Given the description of an element on the screen output the (x, y) to click on. 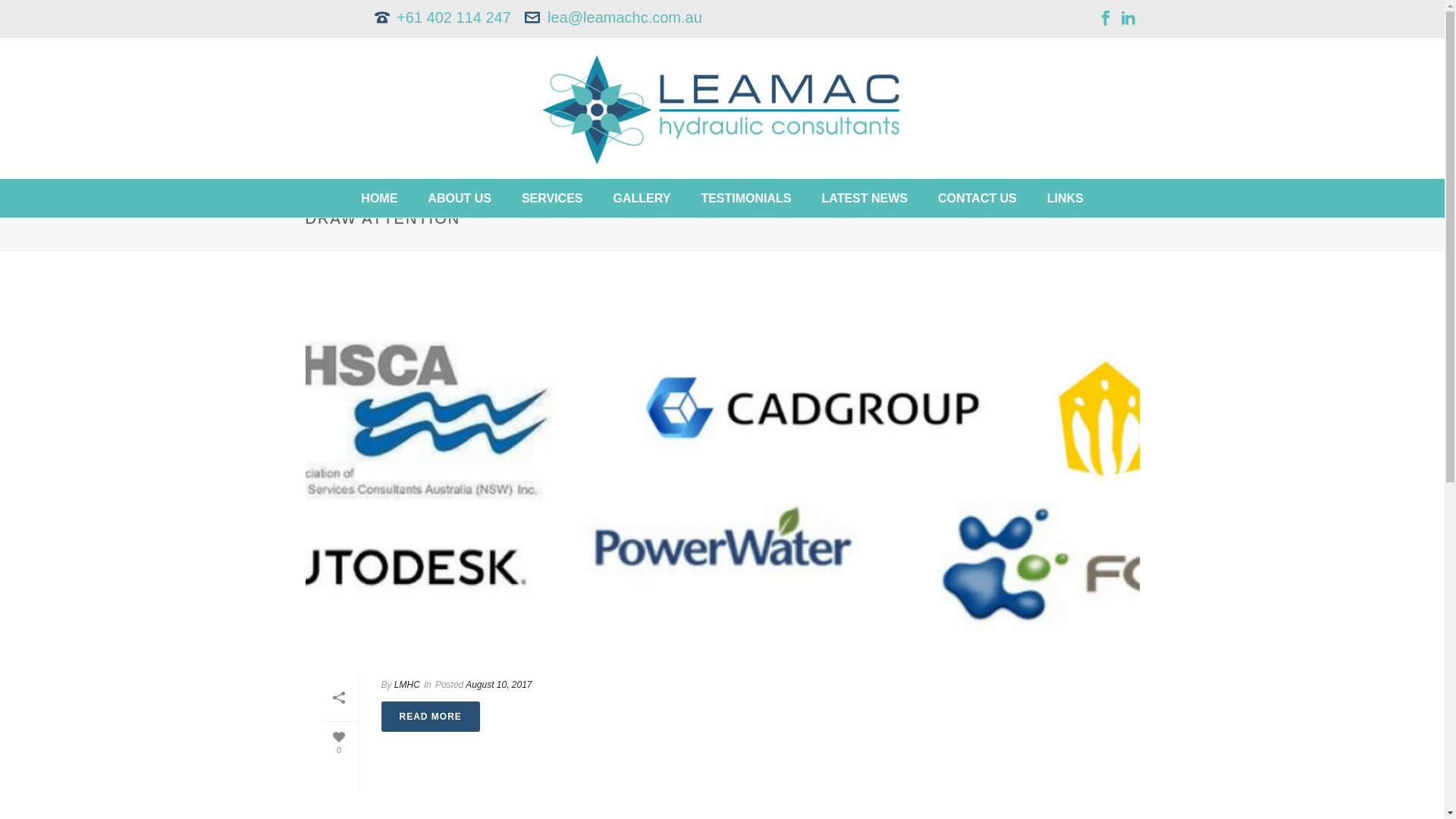
August 10, 2017 Element type: text (498, 684)
+61 402 114 247 Element type: text (453, 17)
ABOUT US Element type: text (459, 197)
0 Element type: text (338, 743)
TESTIMONIALS Element type: text (745, 197)
LINKS Element type: text (1065, 197)
LATEST NEWS Element type: text (864, 197)
HOME Element type: text (378, 197)
CONTACT US Element type: text (977, 197)
READ MORE Element type: text (429, 716)
Leamac Hydraulic Consultants Element type: hover (722, 109)
  Element type: text (721, 472)
GALLERY Element type: text (642, 197)
lea@leamachc.com.au Element type: text (624, 17)
SERVICES Element type: text (552, 197)
LMHC Element type: text (407, 684)
